Given the description of an element on the screen output the (x, y) to click on. 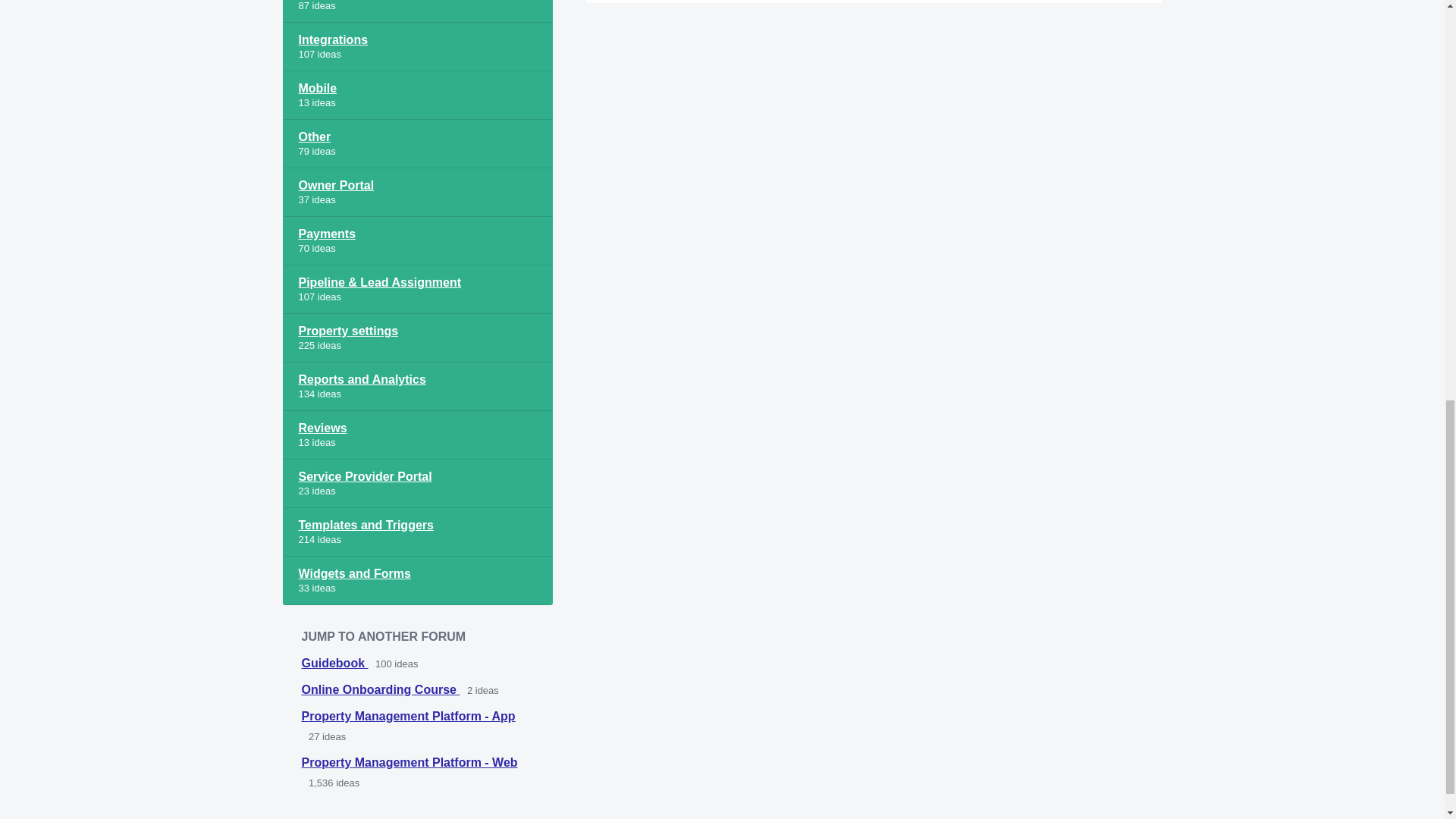
Property Management Platform - Web (409, 762)
View all ideas in category Reviews (417, 435)
Other (417, 143)
Payments (417, 241)
Templates and Triggers (417, 531)
Reports and Analytics (417, 386)
Widgets and Forms (417, 580)
Guidebook (334, 662)
View all ideas in category Inbox (417, 11)
View all ideas in category Property settings (417, 337)
